Given the description of an element on the screen output the (x, y) to click on. 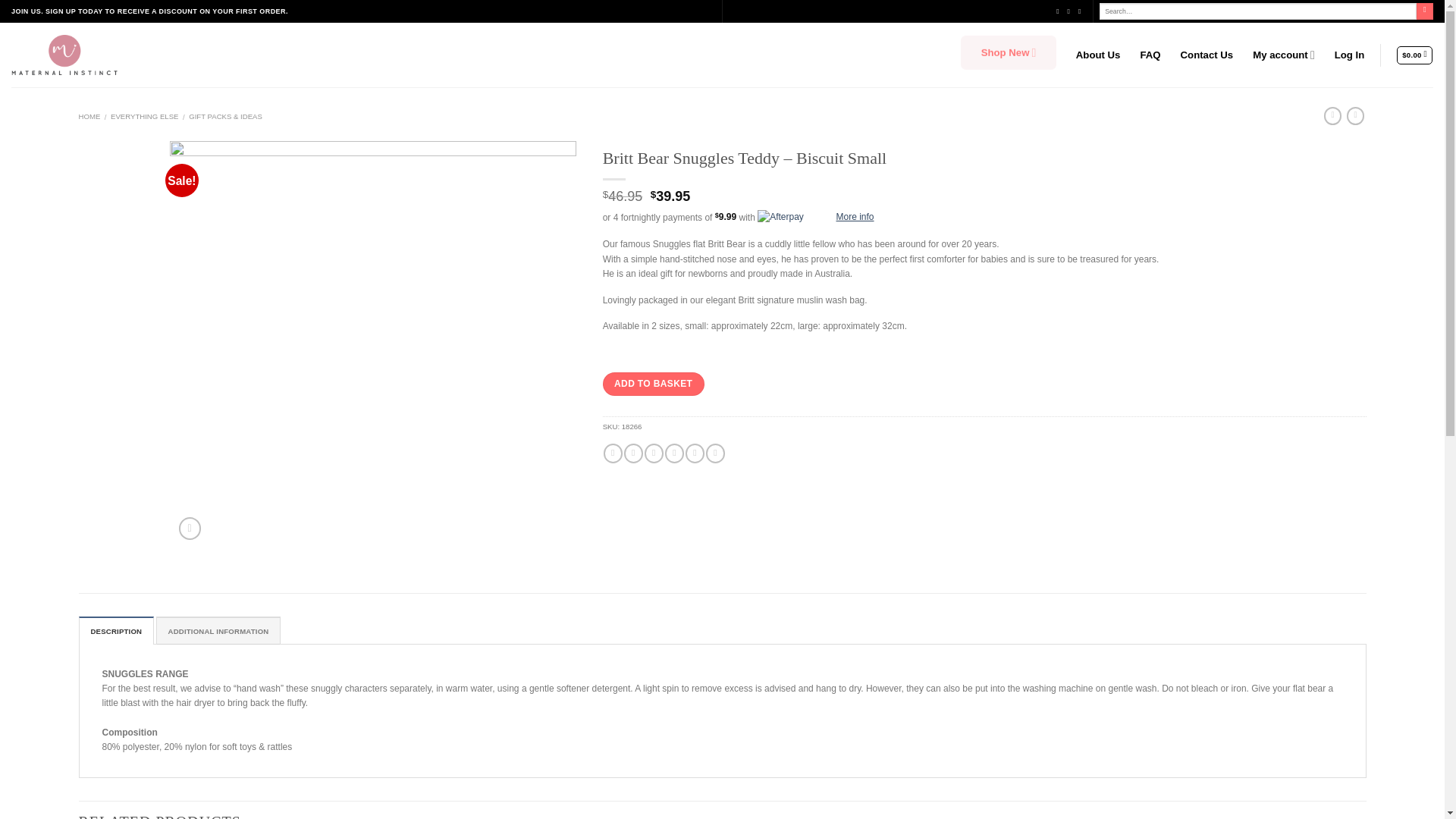
Share on Facebook (613, 453)
Basket (1413, 54)
Follow on Instagram (1070, 11)
Follow on Facebook (1059, 11)
Shop New (1008, 54)
Zoom (189, 527)
Share on Twitter (633, 453)
Call us (1081, 11)
